Given the description of an element on the screen output the (x, y) to click on. 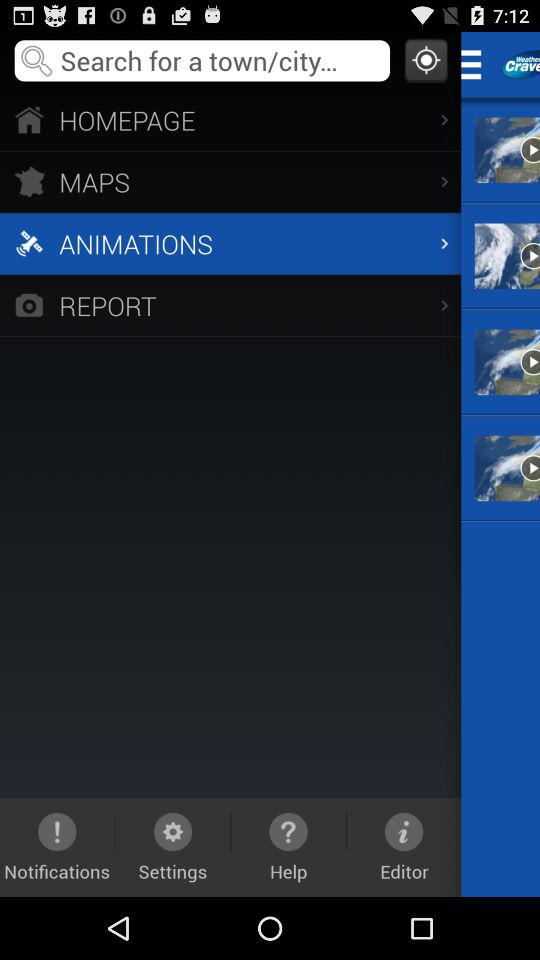
choose report icon (230, 304)
